Given the description of an element on the screen output the (x, y) to click on. 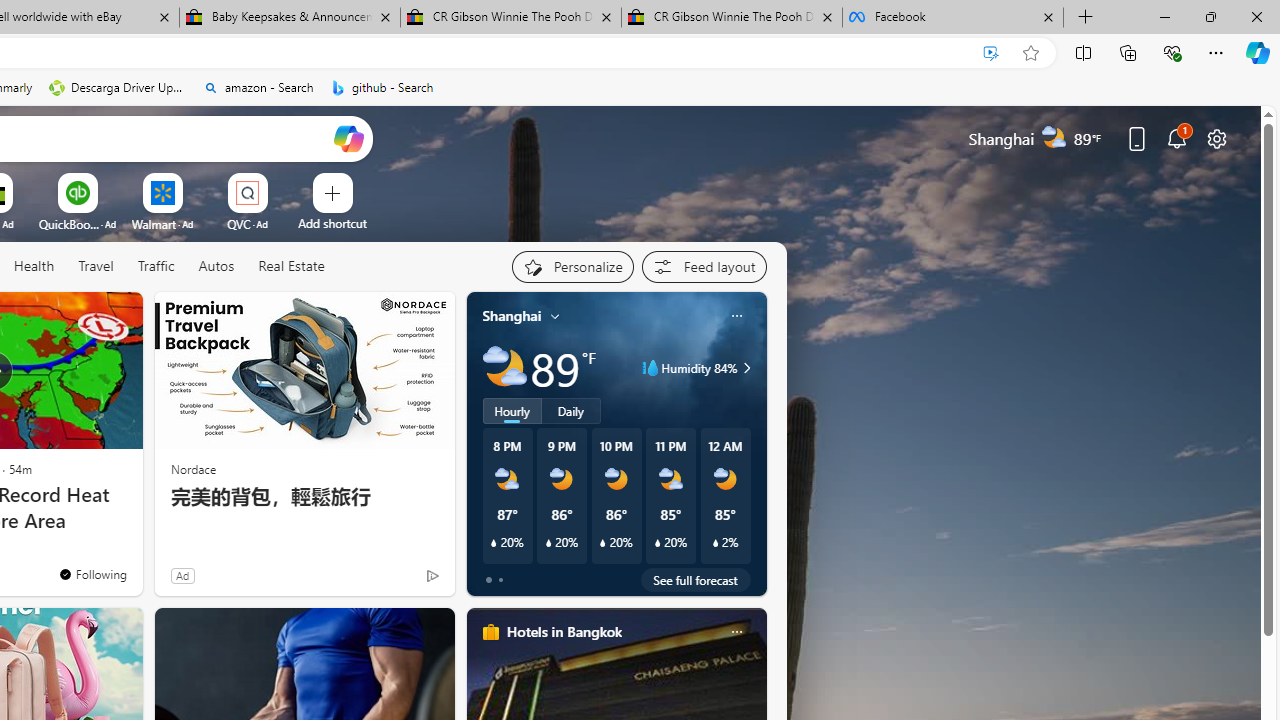
Ad (182, 575)
Daily (571, 411)
Descarga Driver Updater (118, 88)
hotels-header-icon (490, 632)
tab-1 (500, 579)
Health (33, 267)
Partly cloudy (504, 368)
Restore (1210, 16)
Health (34, 265)
Close (1256, 16)
Nordace (193, 468)
Page settings (1216, 138)
